Given the description of an element on the screen output the (x, y) to click on. 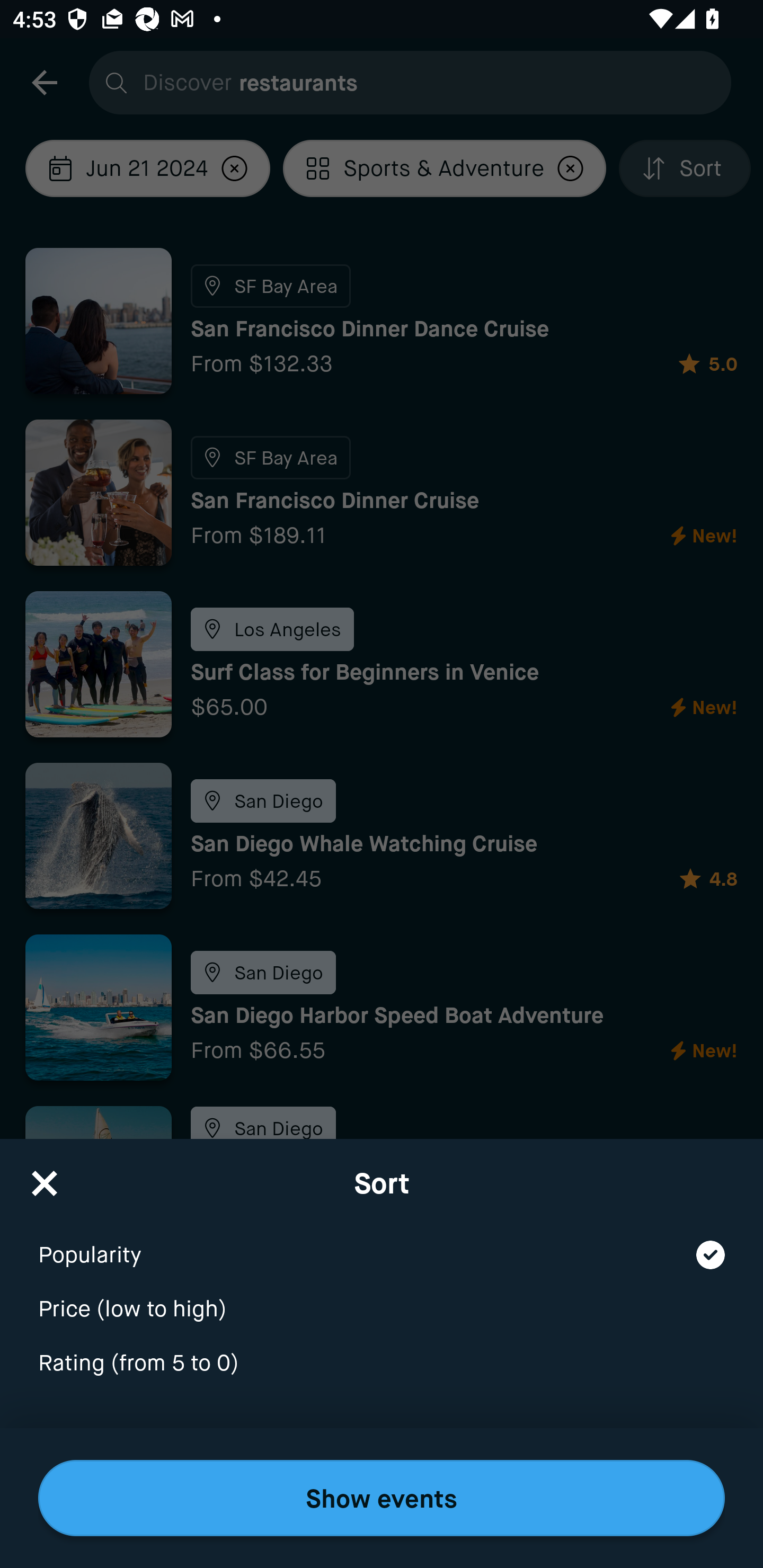
CloseButton (44, 1177)
Popularity Selected Icon (381, 1243)
Price (low to high) (381, 1297)
Rating (from 5 to 0) (381, 1362)
Show events (381, 1497)
